Given the description of an element on the screen output the (x, y) to click on. 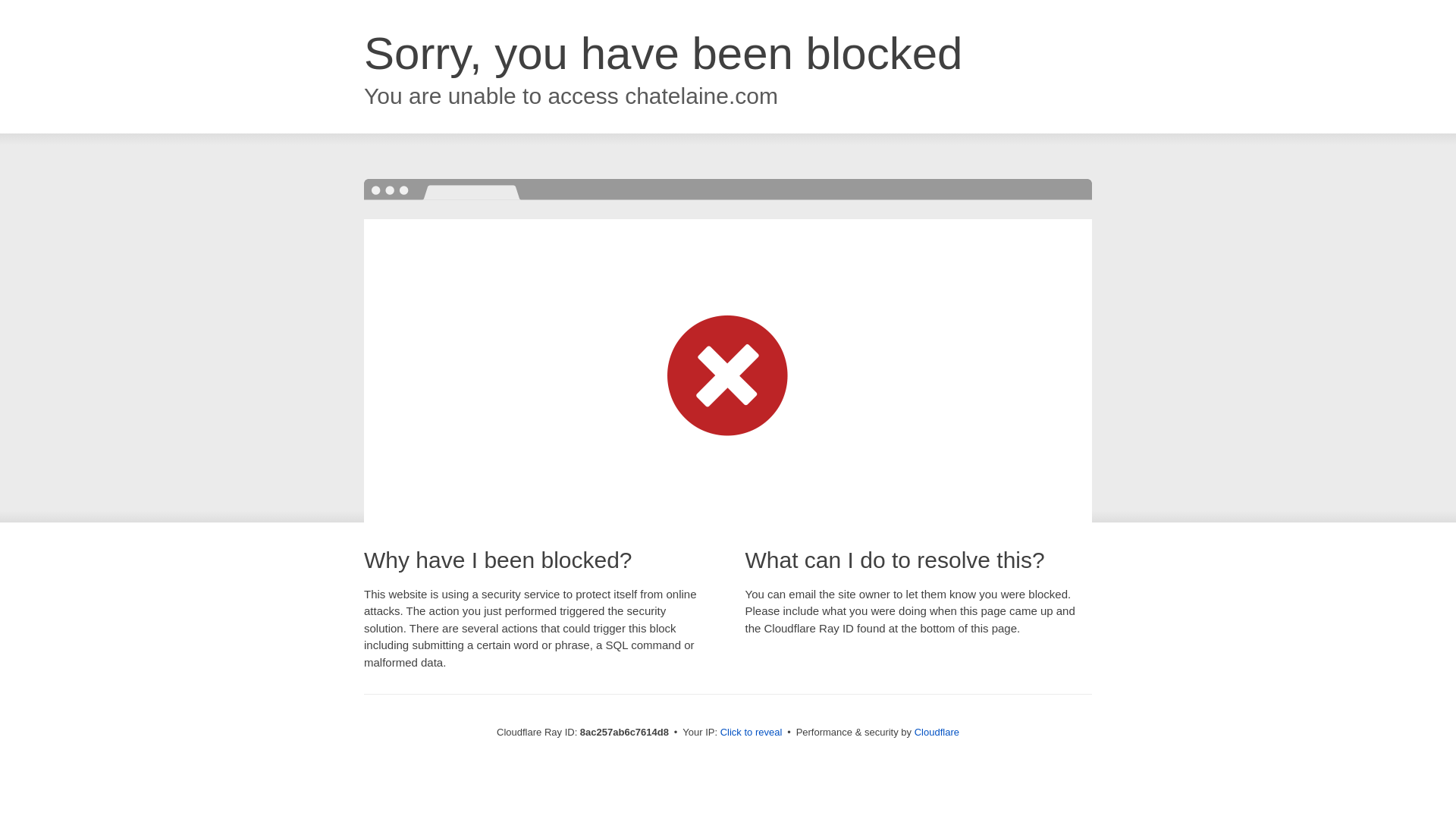
Cloudflare (936, 731)
Click to reveal (751, 732)
